Given the description of an element on the screen output the (x, y) to click on. 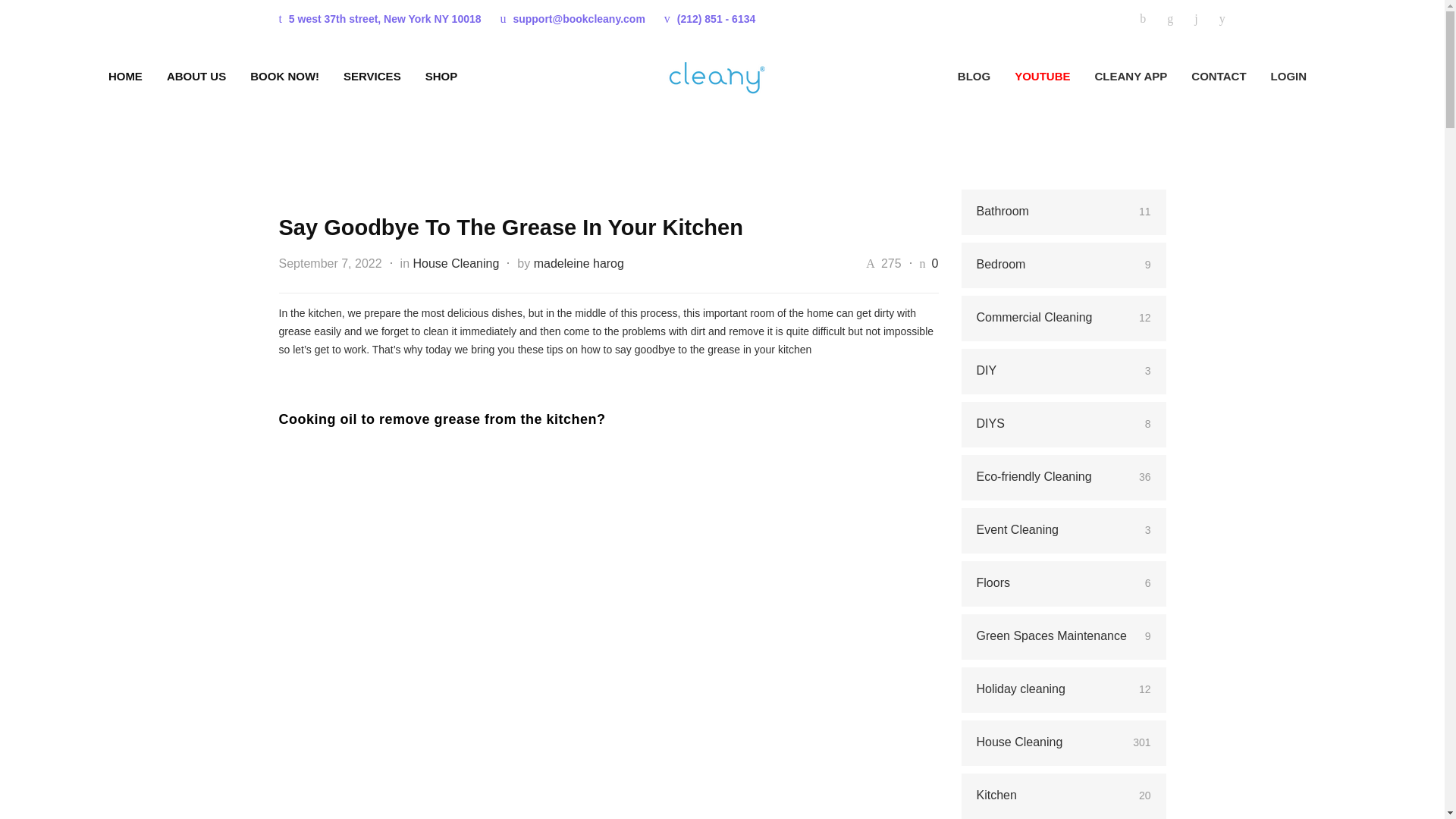
View all posts filed under House Cleaning (455, 263)
ABOUT US (183, 76)
BOOK NOW! (271, 76)
HOME (124, 76)
Say Goodbye To The Grease In Your Kitchen (510, 227)
0 comments (935, 263)
SERVICES (359, 76)
0 (935, 263)
madeleine harog (579, 263)
SHOP (429, 76)
